Given the description of an element on the screen output the (x, y) to click on. 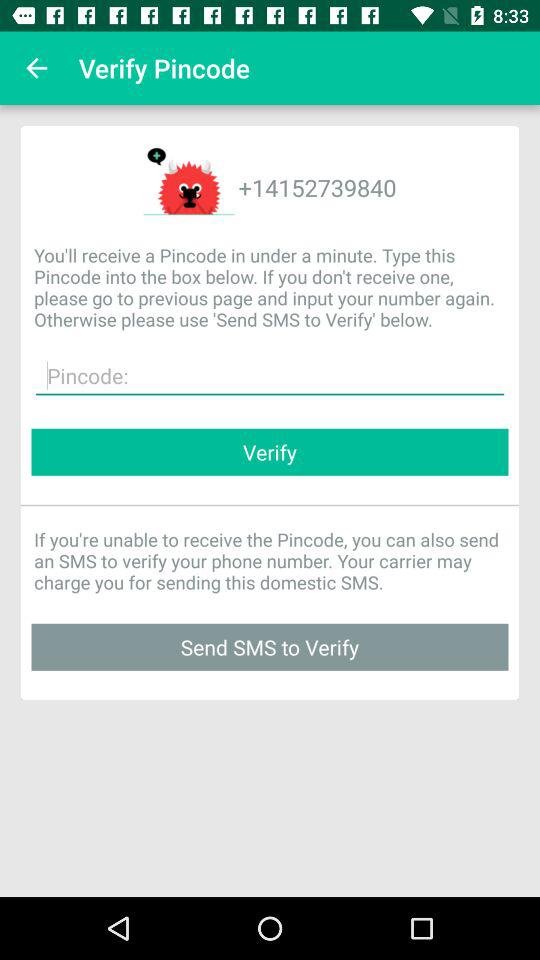
turn off icon above verify (269, 375)
